Given the description of an element on the screen output the (x, y) to click on. 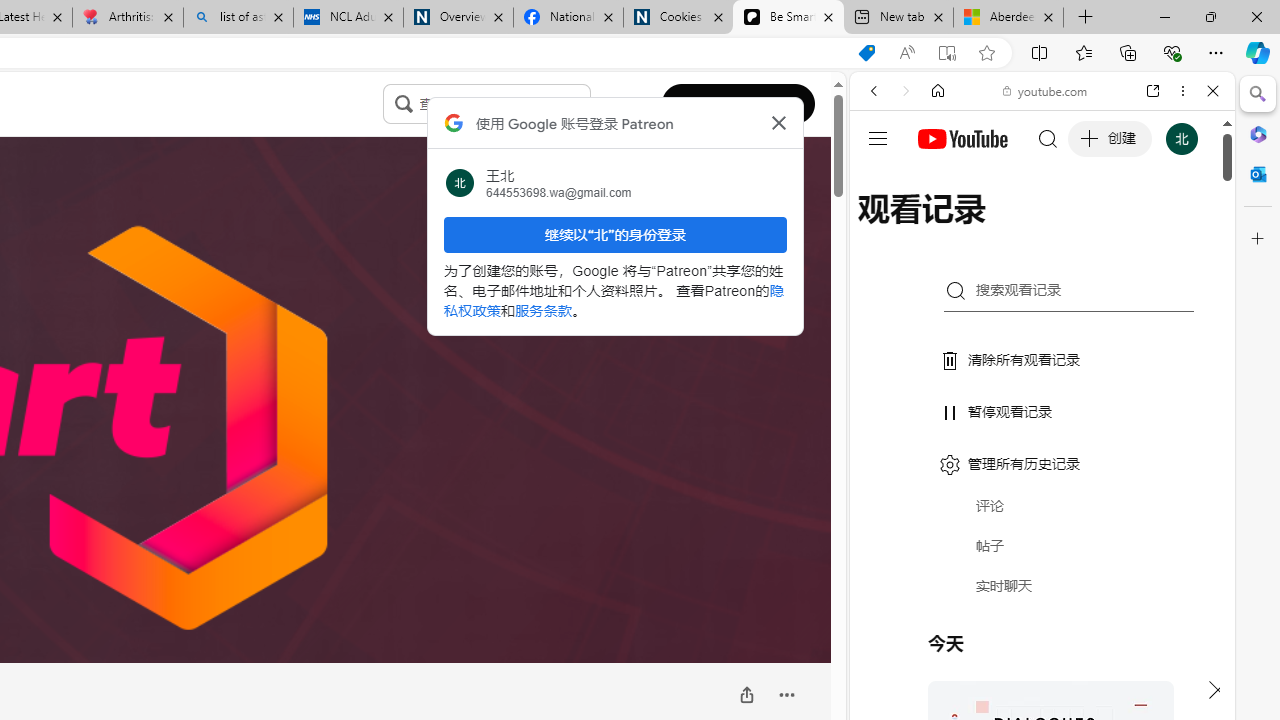
Class: Bz112c Bz112c-r9oPif (778, 122)
